Given the description of an element on the screen output the (x, y) to click on. 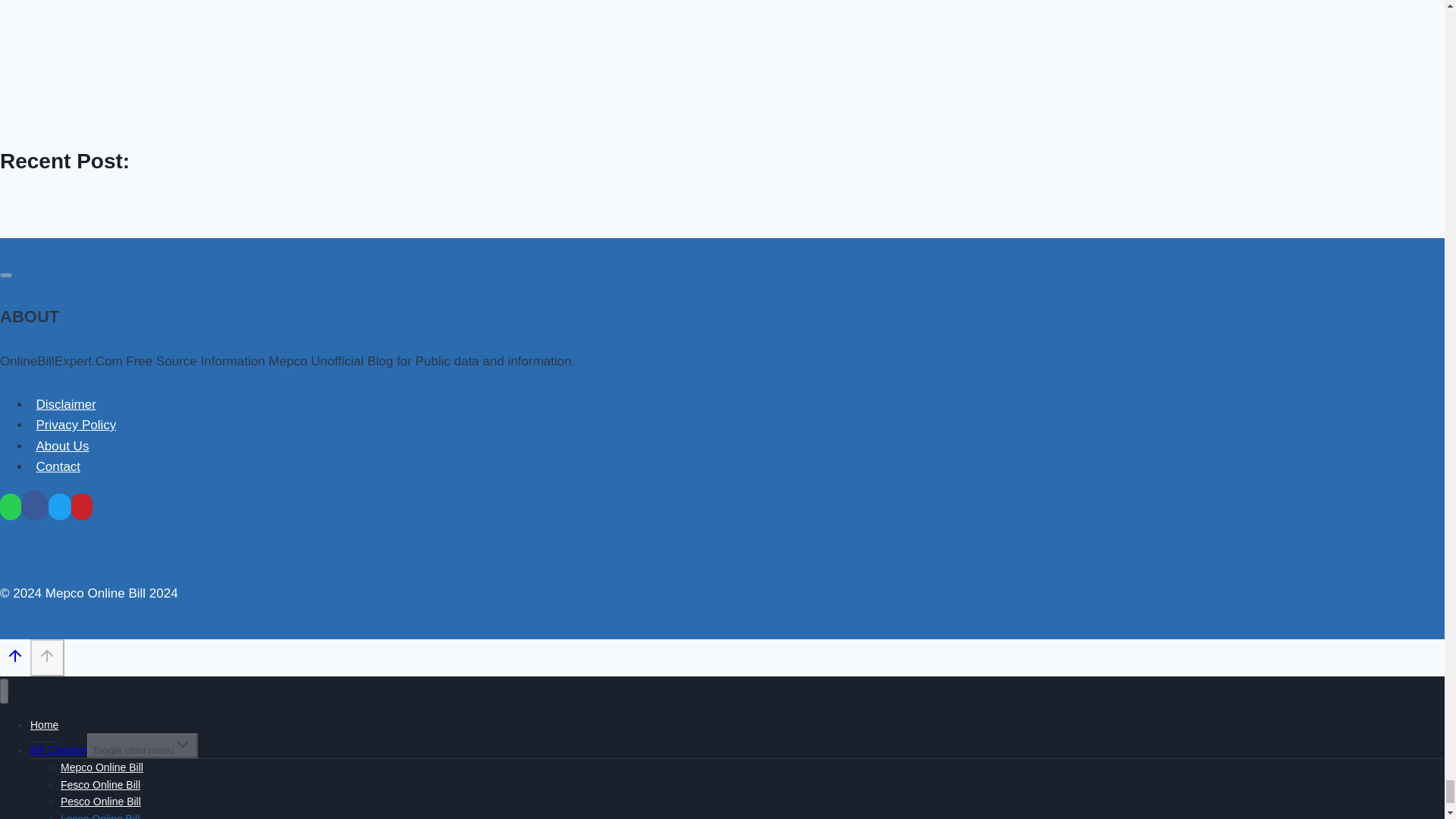
Scroll to top (47, 657)
Scroll to top (15, 659)
